Given the description of an element on the screen output the (x, y) to click on. 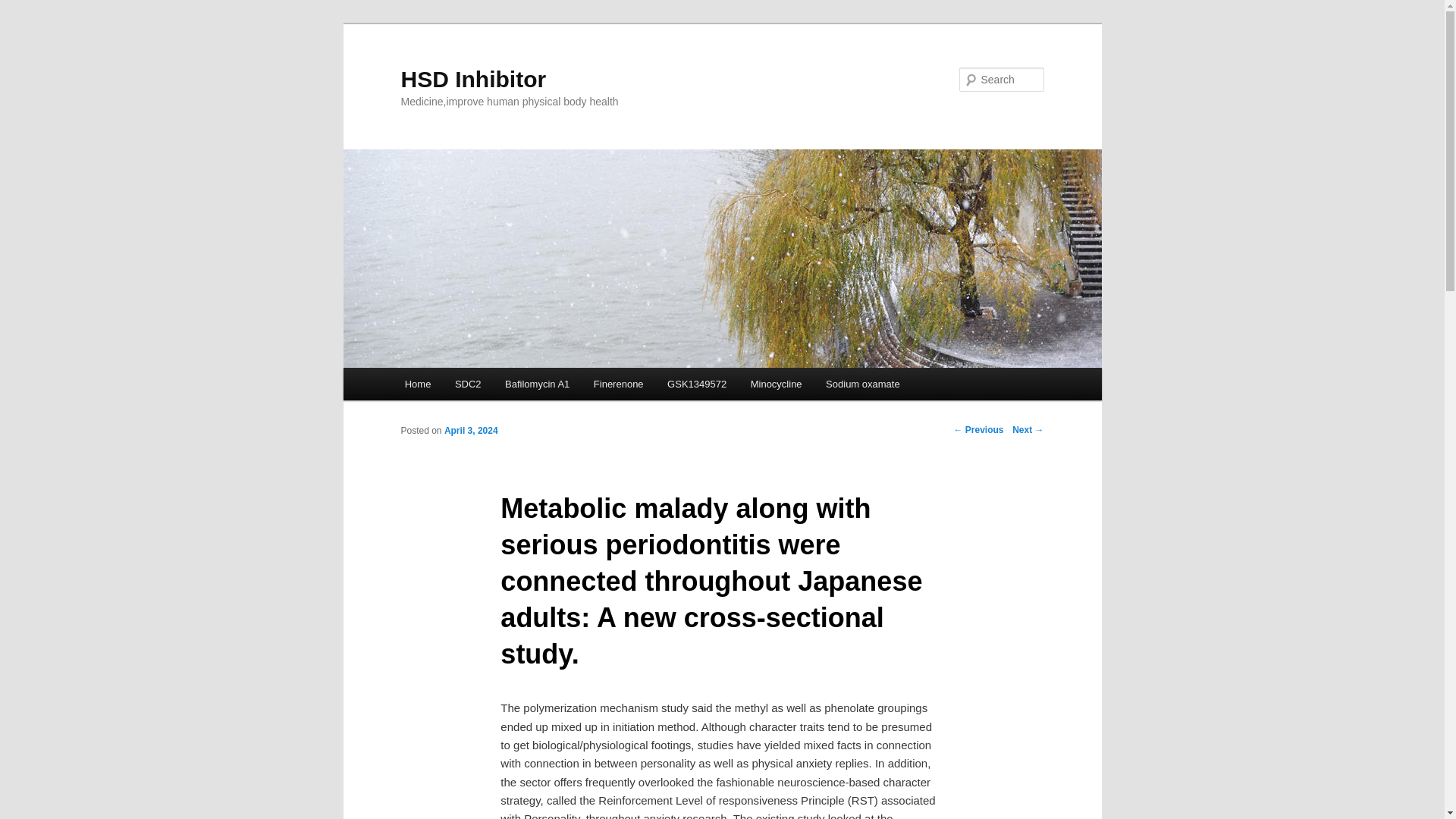
GSK1349572 (696, 383)
Skip to secondary content (479, 386)
Bafilomycin A1 (536, 383)
Search (24, 8)
Sodium oxamate (862, 383)
Skip to secondary content (479, 386)
SDC2 (467, 383)
Skip to primary content (472, 386)
12:25 am (470, 430)
HSD Inhibitor (473, 78)
